Given the description of an element on the screen output the (x, y) to click on. 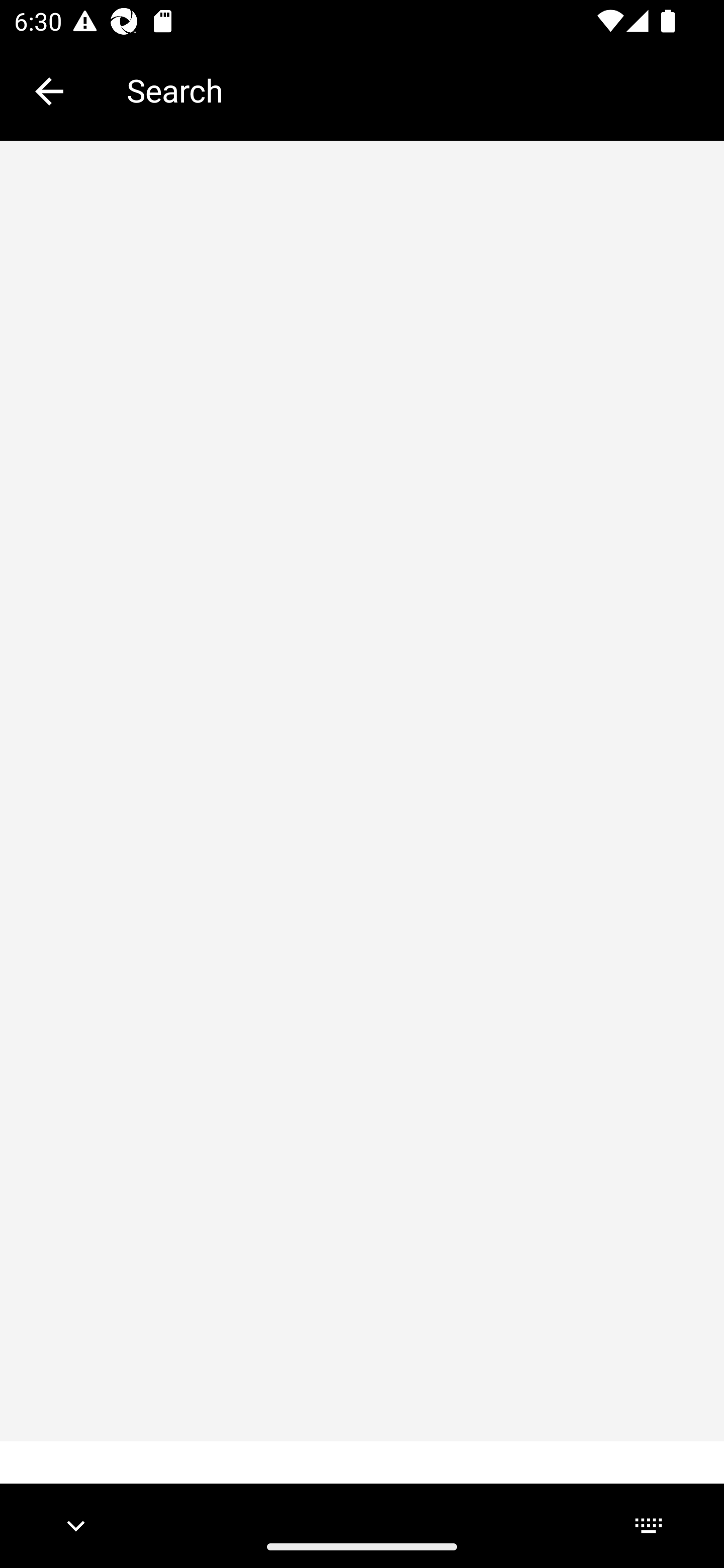
Collapse (49, 91)
Search (411, 90)
